Given the description of an element on the screen output the (x, y) to click on. 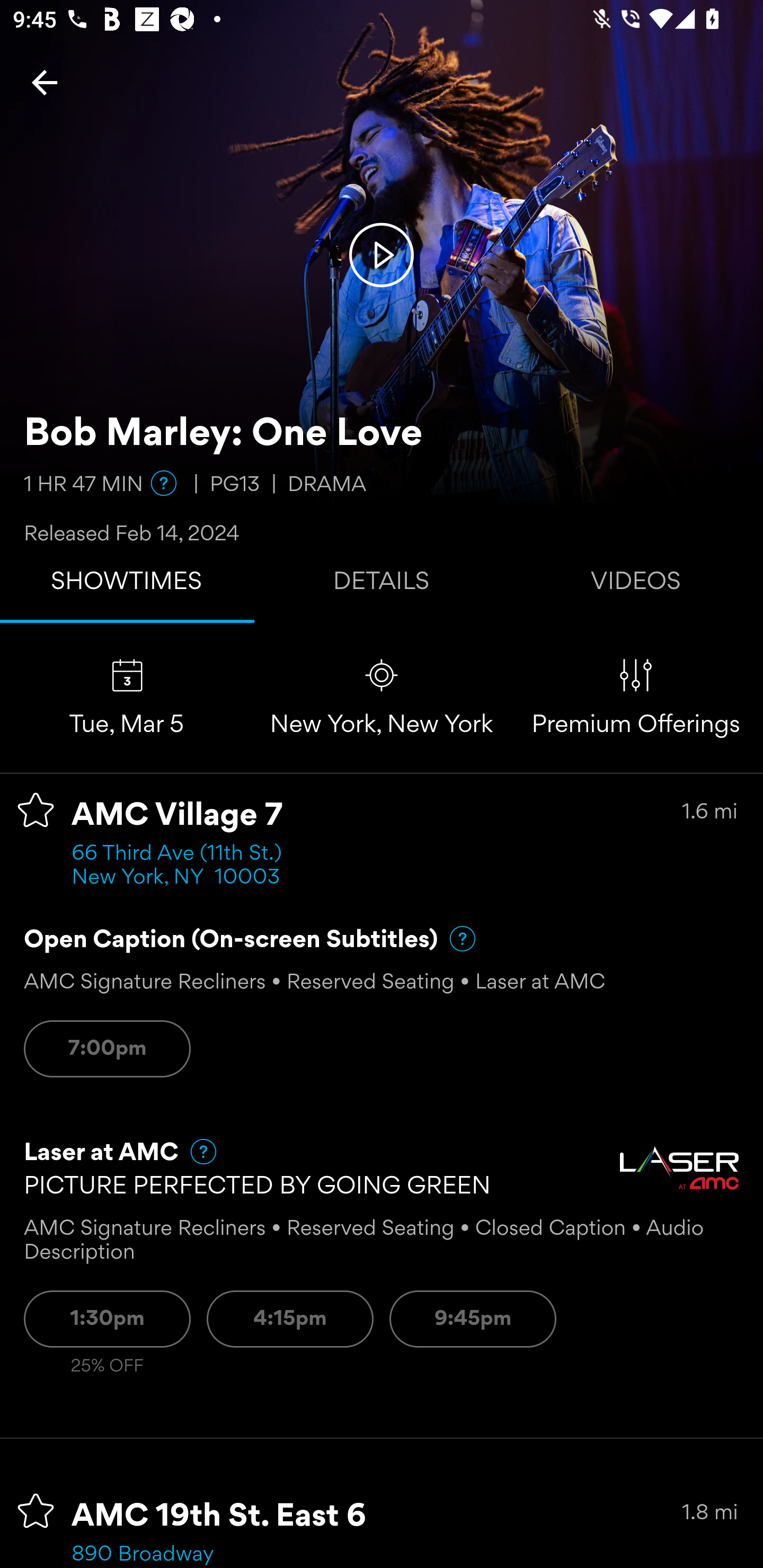
Back (44, 82)
Play (381, 254)
Help (163, 482)
SHOWTIMES
Tab 1 of 3 (127, 584)
DETAILS
Tab 2 of 3 (381, 584)
VIDEOS
Tab 3 of 3 (635, 584)
Change selected day
Tue, Mar 5 (127, 697)
Change location
New York, New York (381, 697)
Premium Offerings
Premium Offerings (635, 697)
AMC Village 7 (177, 816)
66 Third Ave (11th St.)  
New York, NY  10003 (182, 866)
Help (454, 938)
Help (195, 1151)
AMC 19th St. East 6 (219, 1517)
890 Broadway  
New York, NY  10003 (176, 1555)
